Given the description of an element on the screen output the (x, y) to click on. 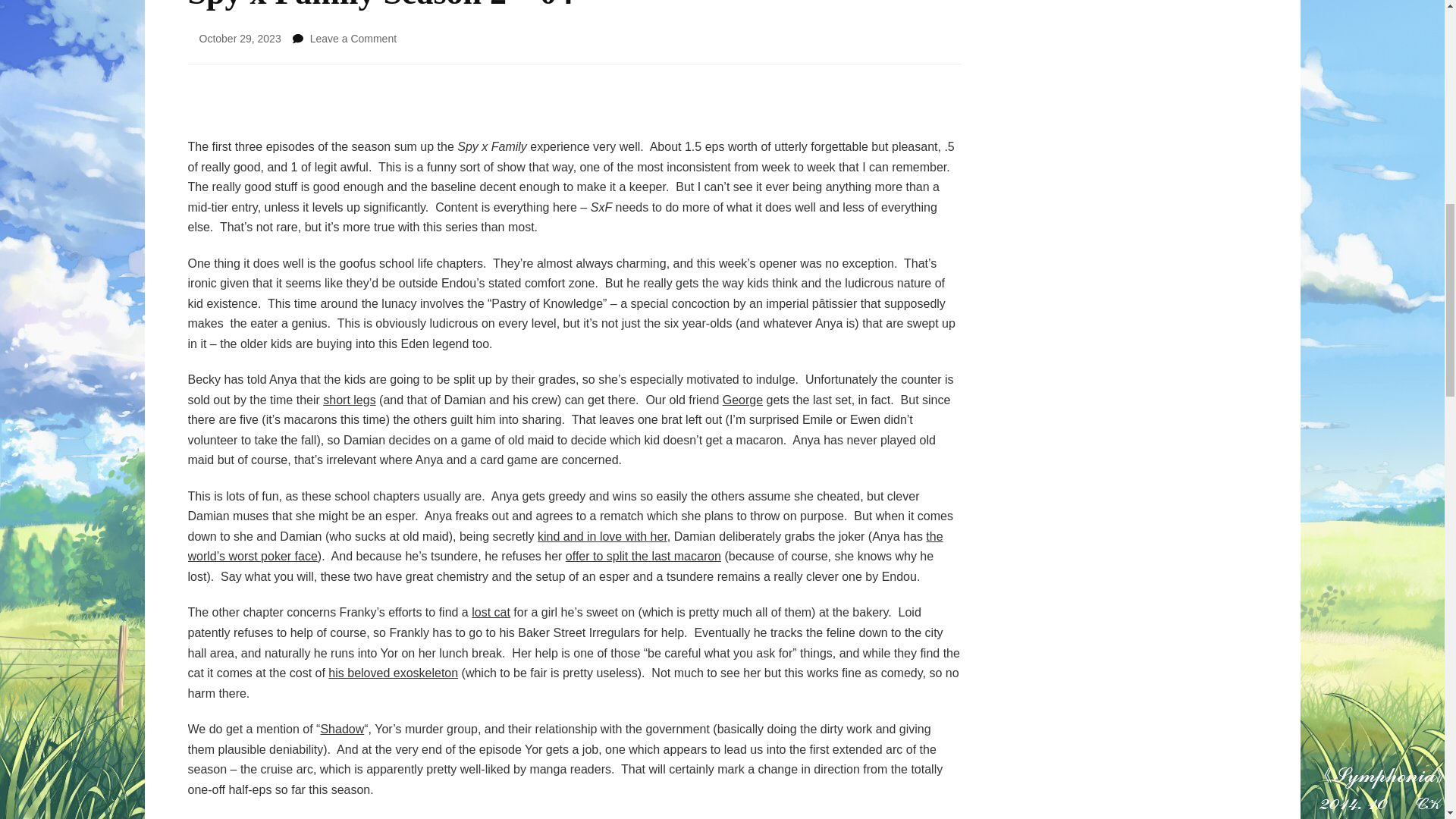
Shadow (342, 728)
kind and in love with her (601, 535)
short legs (349, 399)
offer to split the last macaron (643, 555)
George (742, 399)
lost cat (491, 612)
his beloved exoskeleton (393, 672)
October 29, 2023 (239, 38)
